Given the description of an element on the screen output the (x, y) to click on. 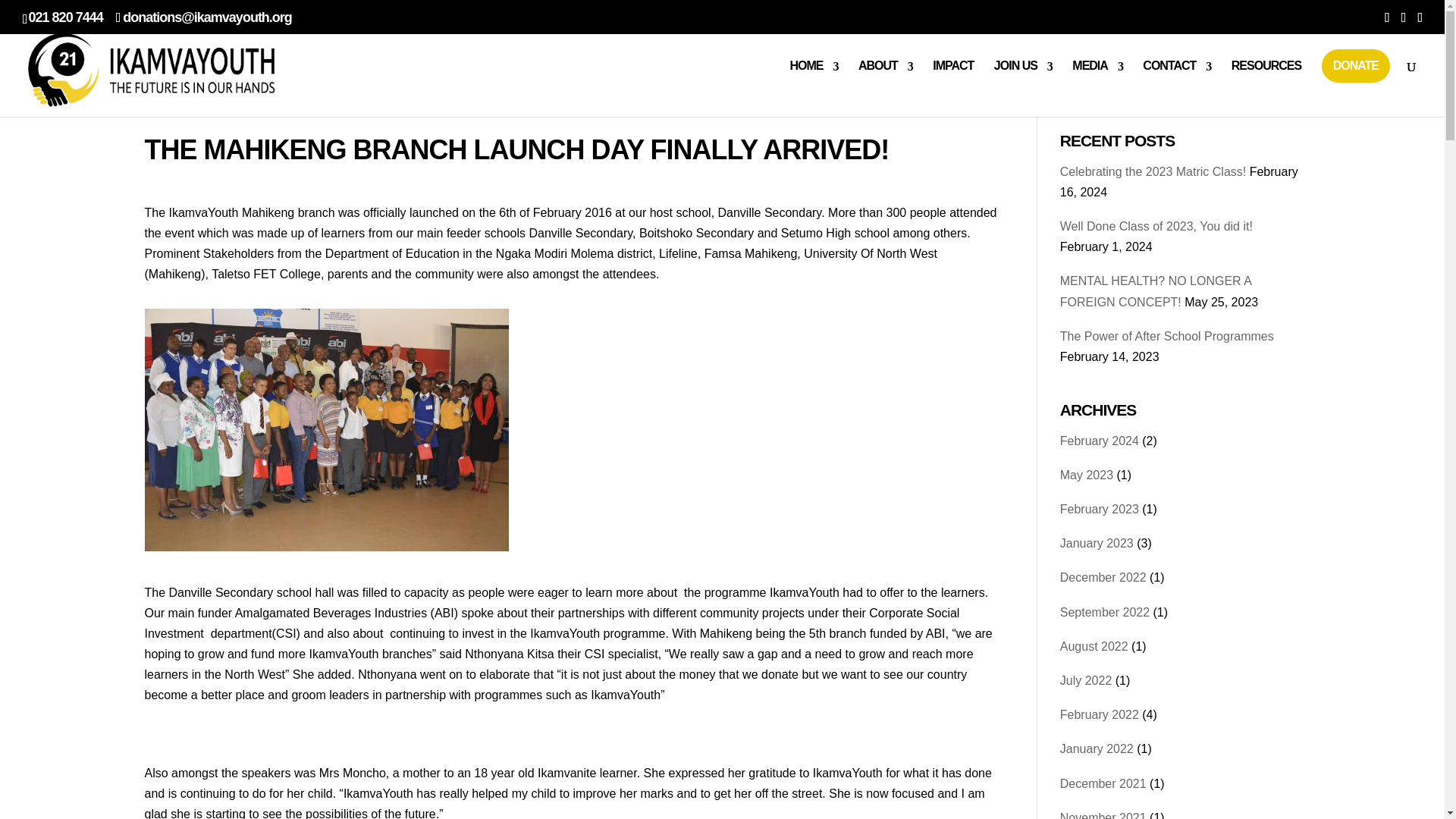
September 2022 (1104, 612)
December 2022 (1103, 576)
RESOURCES (1266, 78)
Well Done Class of 2023, You did it! (1155, 226)
The Power of After School Programmes (1166, 336)
DONATE (1356, 65)
Celebrating the 2023 Matric Class! (1152, 171)
February 2024 (1098, 440)
July 2022 (1085, 680)
JOIN US (1023, 78)
